Given the description of an element on the screen output the (x, y) to click on. 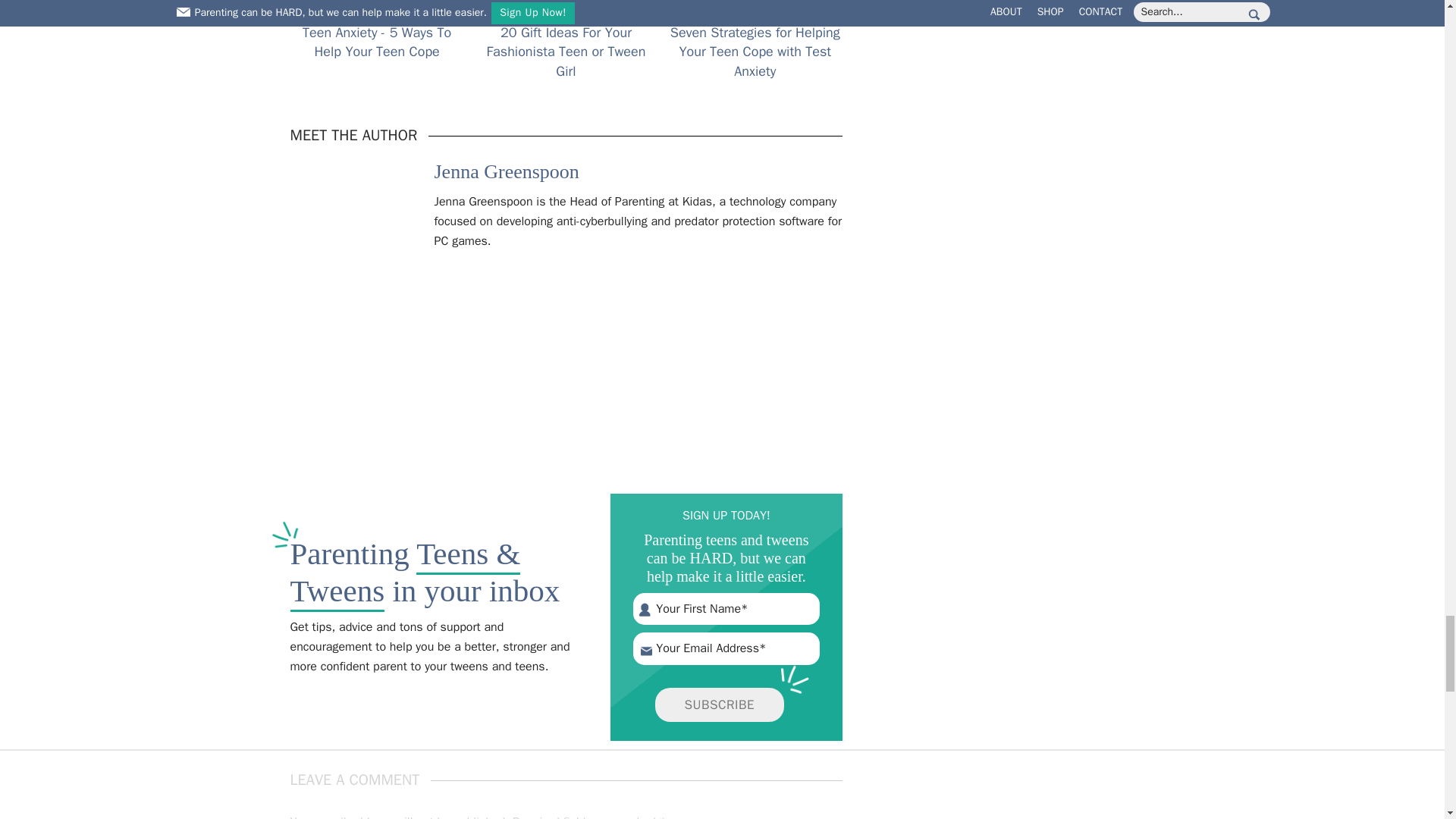
SUBSCRIBE (719, 704)
